Given the description of an element on the screen output the (x, y) to click on. 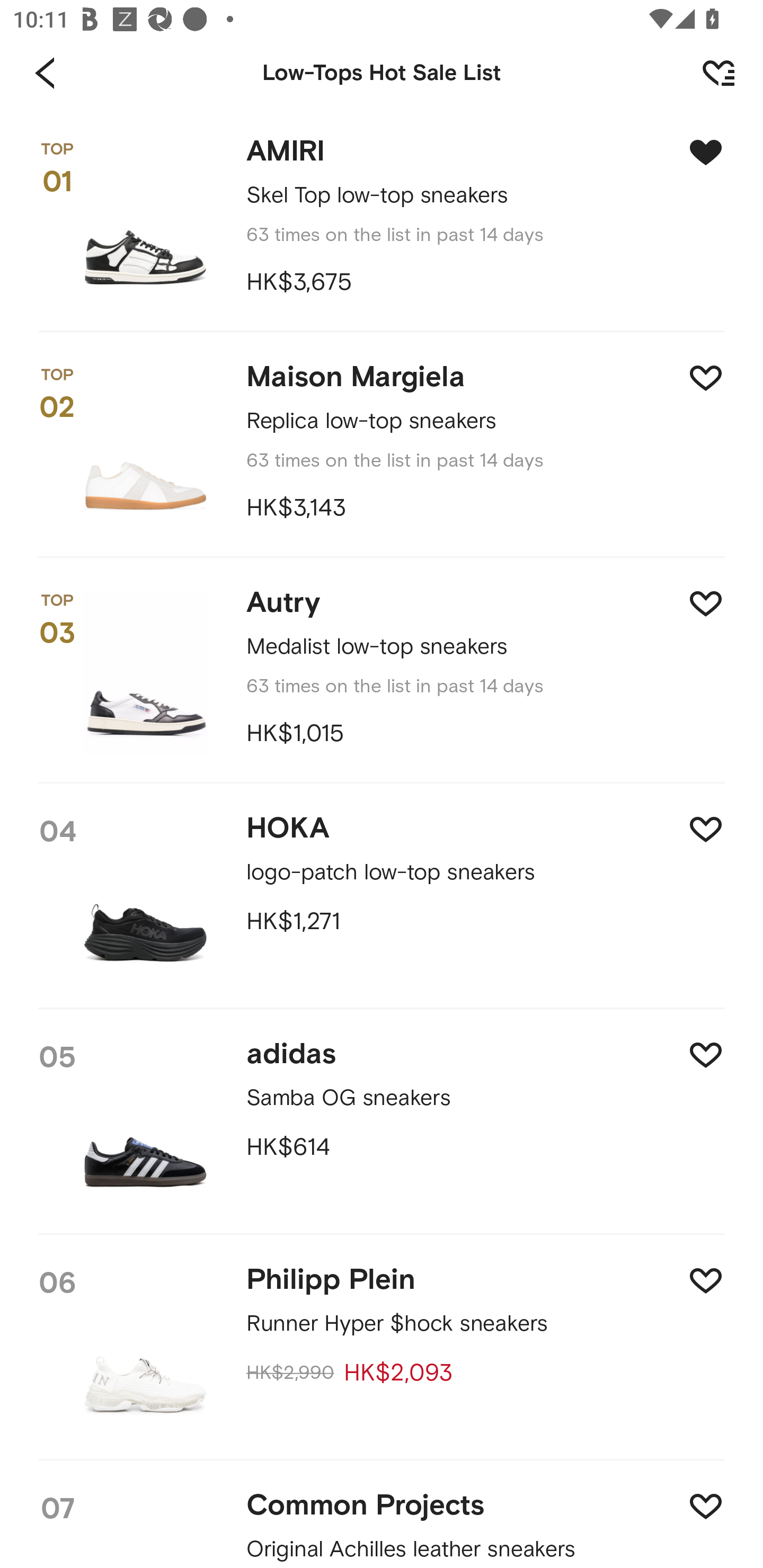
04 HOKA logo-patch low-top sneakers HK$1,271 (381, 897)
05 adidas Samba OG sneakers HK$614 (381, 1123)
